Given the description of an element on the screen output the (x, y) to click on. 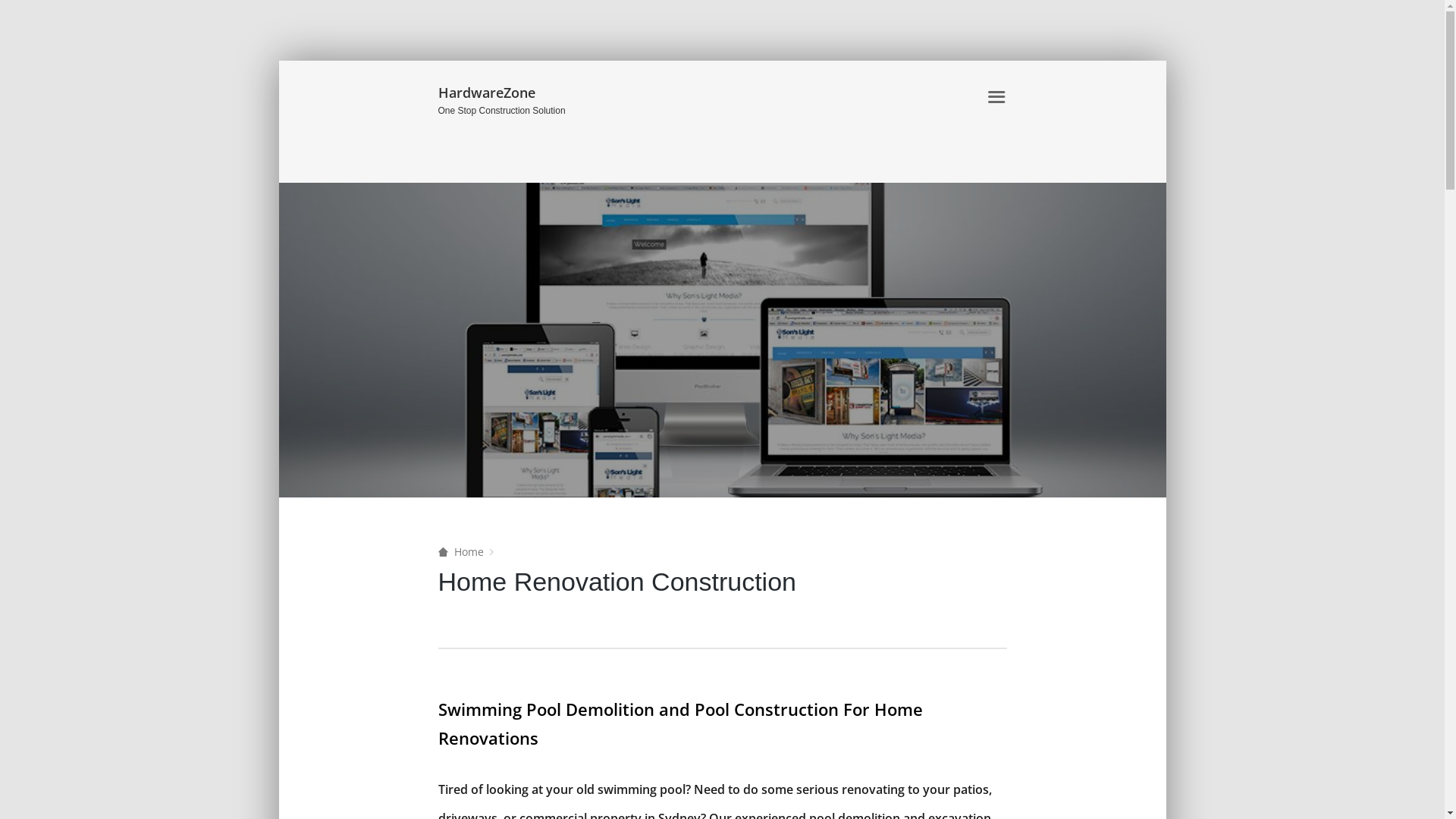
HardwareZone Element type: text (527, 93)
Home Element type: text (460, 551)
One Stop Construction Solution Element type: text (527, 111)
